Given the description of an element on the screen output the (x, y) to click on. 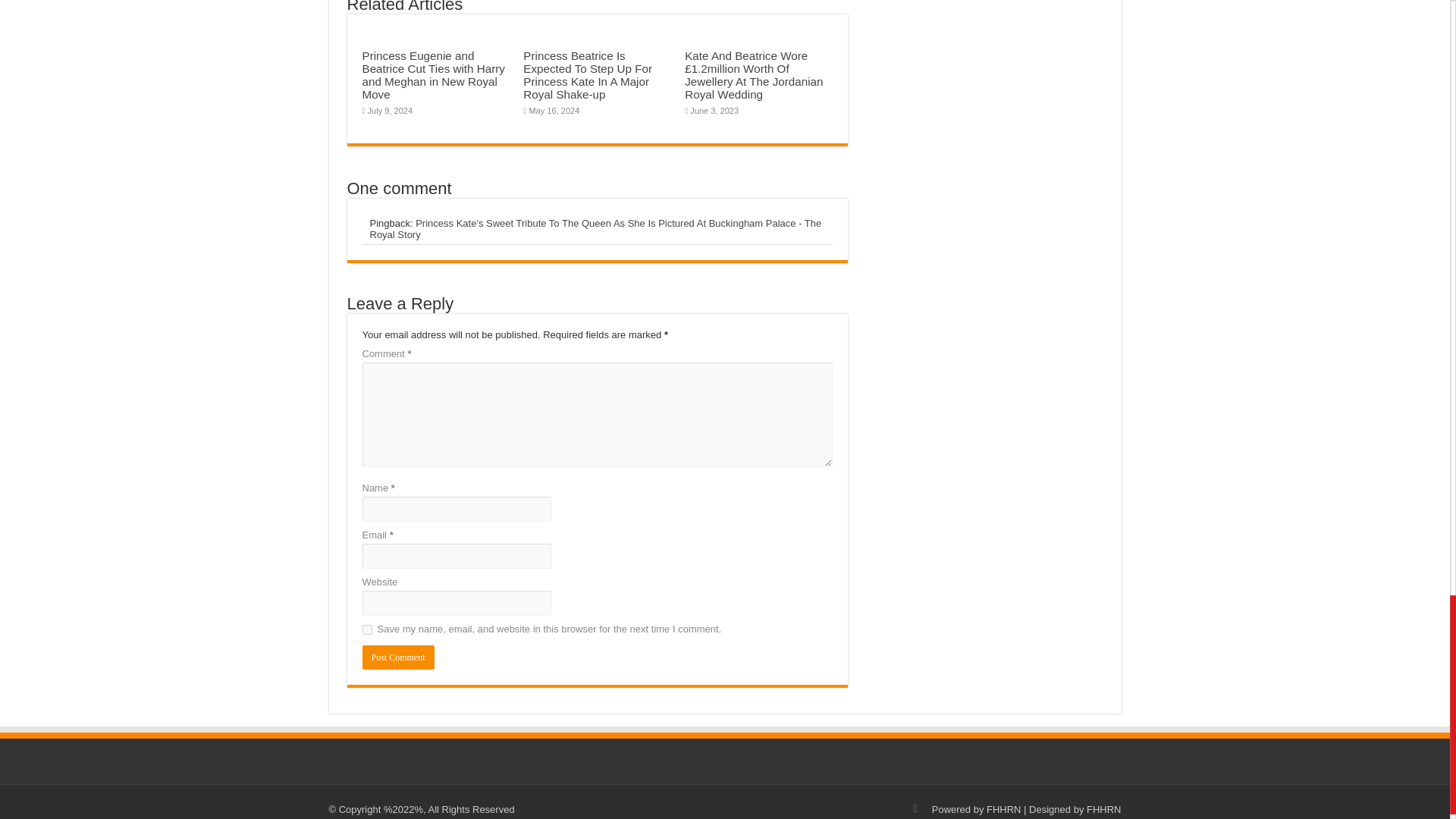
yes (367, 629)
Post Comment (397, 657)
